Given the description of an element on the screen output the (x, y) to click on. 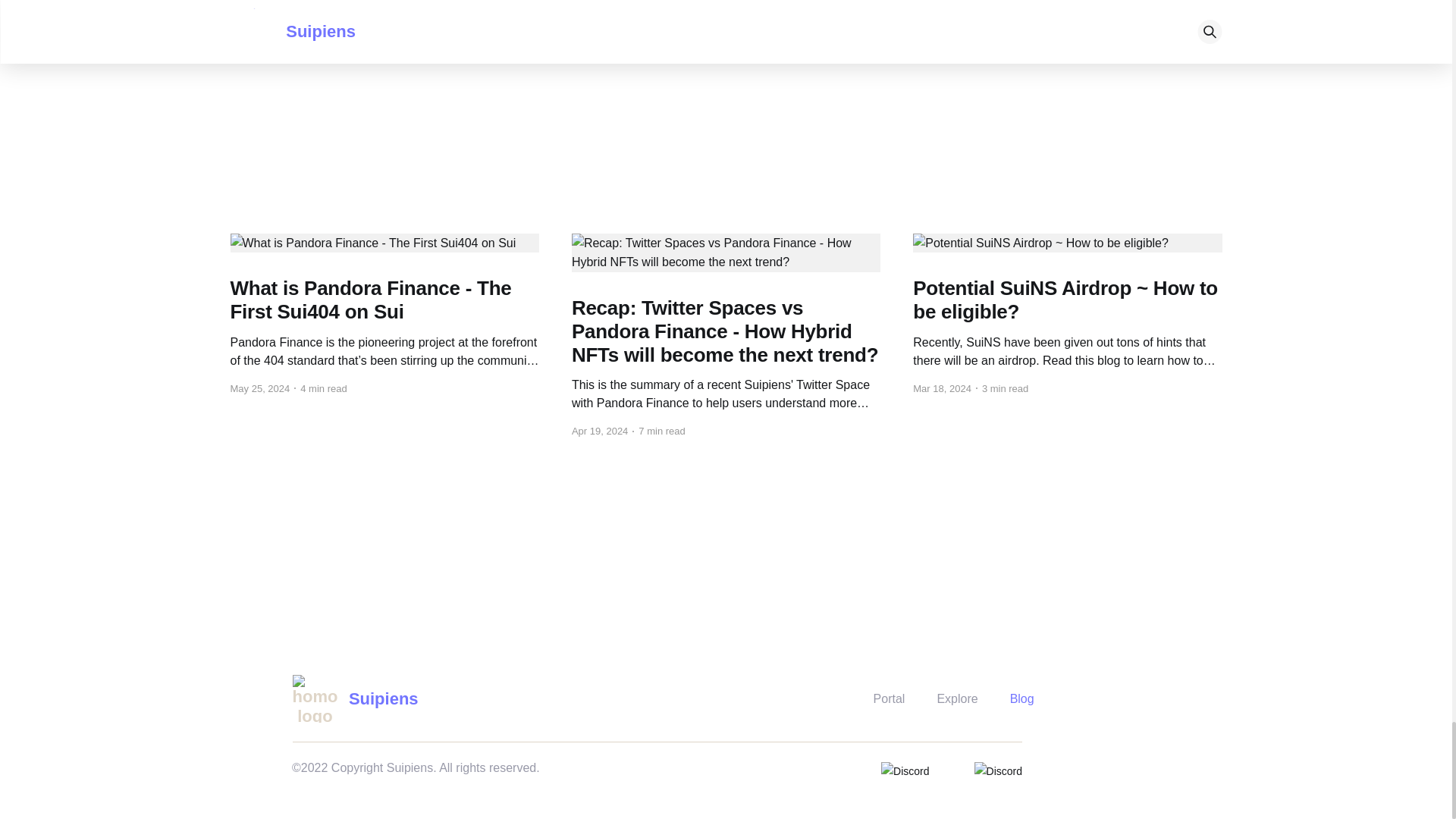
Explore (956, 699)
Discord (771, 26)
Portal (889, 699)
Website (658, 26)
Twitter (714, 26)
